Given the description of an element on the screen output the (x, y) to click on. 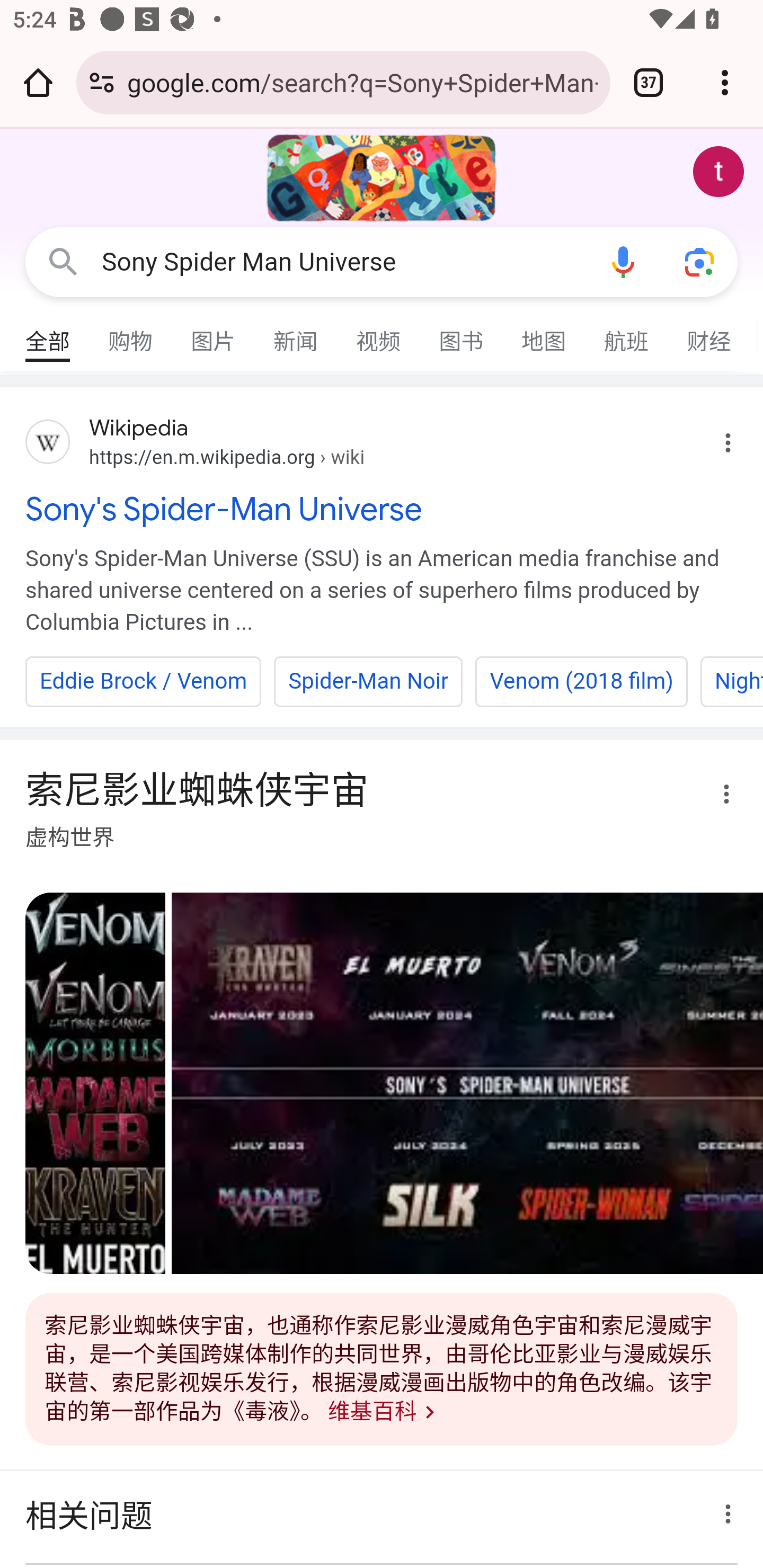
Open the home page (38, 82)
Connection is secure (101, 82)
Switch or close tabs (648, 82)
Customize and control Google Chrome (724, 82)
2024 年国际妇女节 (381, 177)
Google 账号： test appium (testappium002@gmail.com) (718, 171)
Google 搜索 (63, 262)
使用拍照功能或照片进行搜索 (699, 262)
Sony Spider Man Universe (343, 261)
购物 (131, 333)
图片 (213, 333)
新闻 (296, 333)
视频 (379, 333)
图书 (461, 333)
地图 (544, 333)
航班 (627, 333)
财经 (709, 333)
Sony's Spider-Man Universe (381, 508)
Eddie Brock / Venom (143, 681)
Spider-Man Noir (368, 681)
Venom (2018 film) (581, 681)
Nightwatch (comics) (731, 681)
更多选项 (714, 797)
关于这条结果的详细信息 (723, 1508)
